Given the description of an element on the screen output the (x, y) to click on. 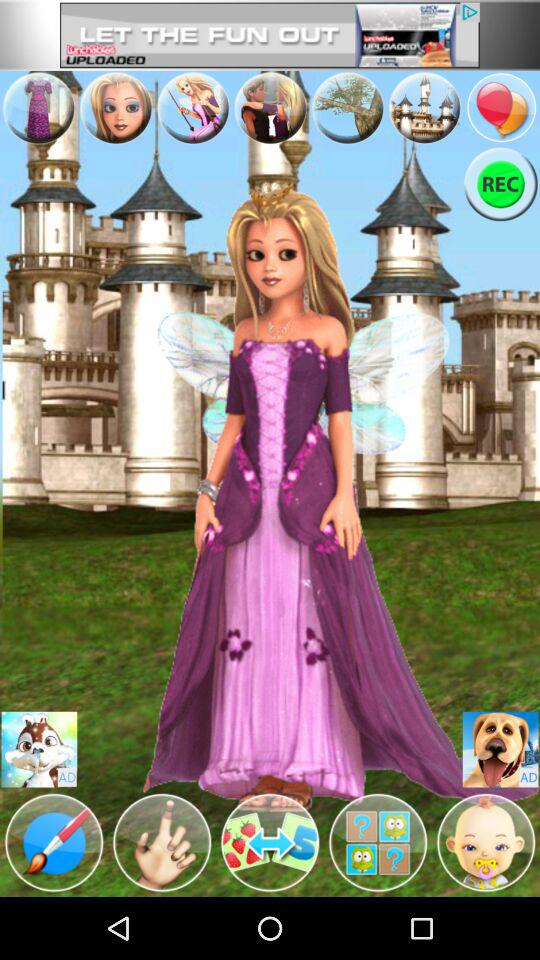
edit (378, 843)
